Given the description of an element on the screen output the (x, y) to click on. 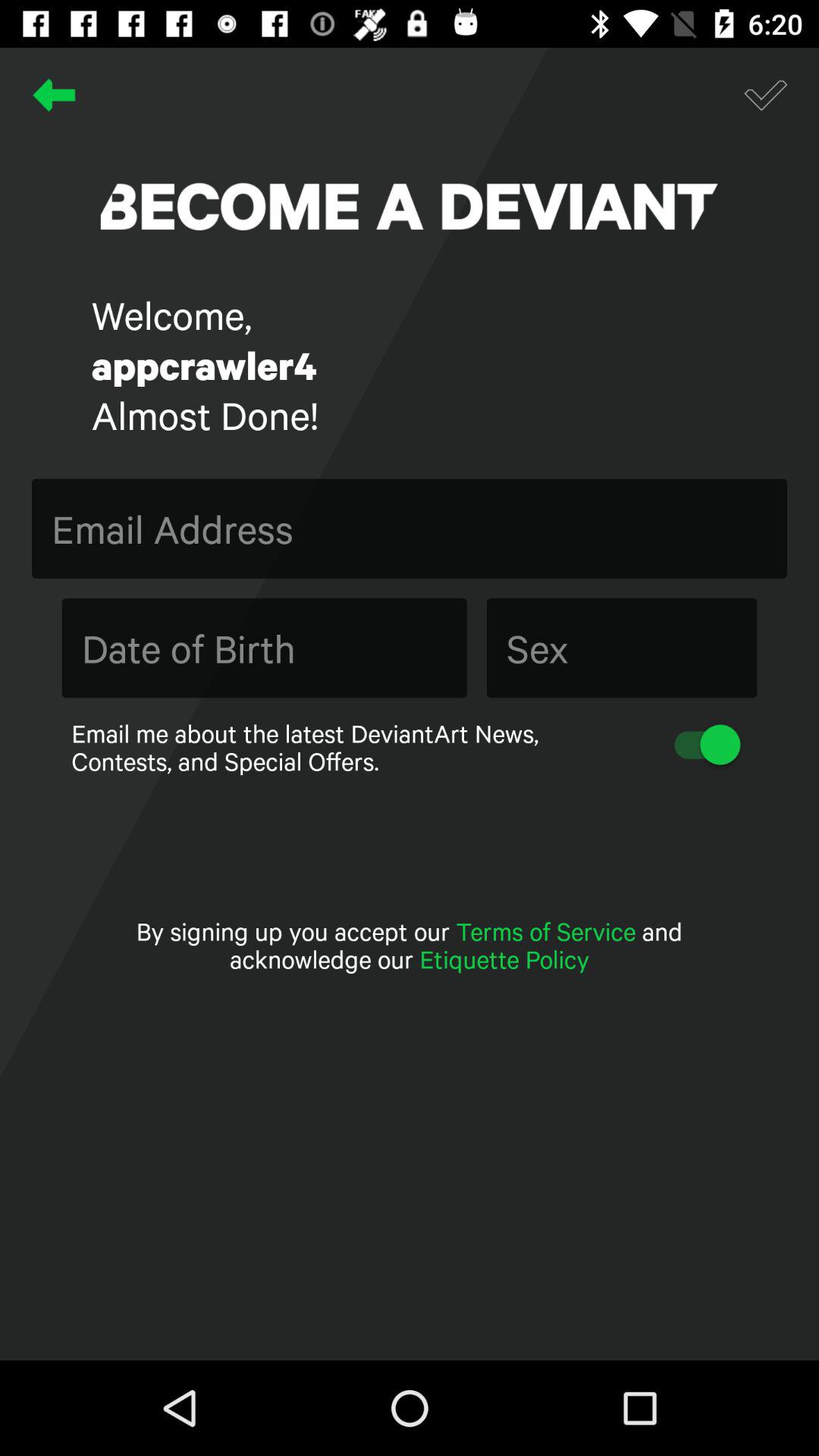
swipe to the by signing up icon (409, 944)
